Given the description of an element on the screen output the (x, y) to click on. 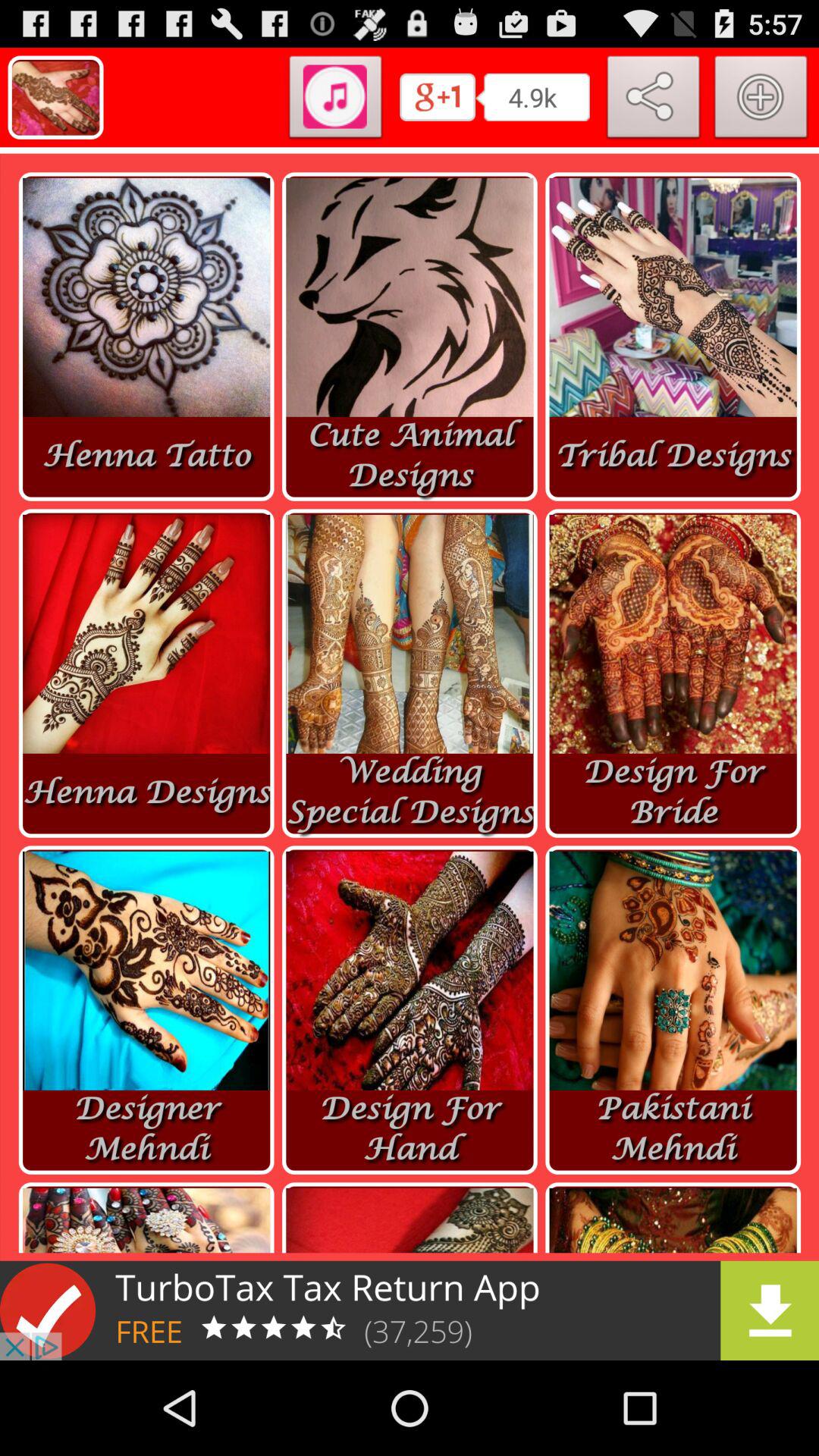
add button (761, 100)
